Given the description of an element on the screen output the (x, y) to click on. 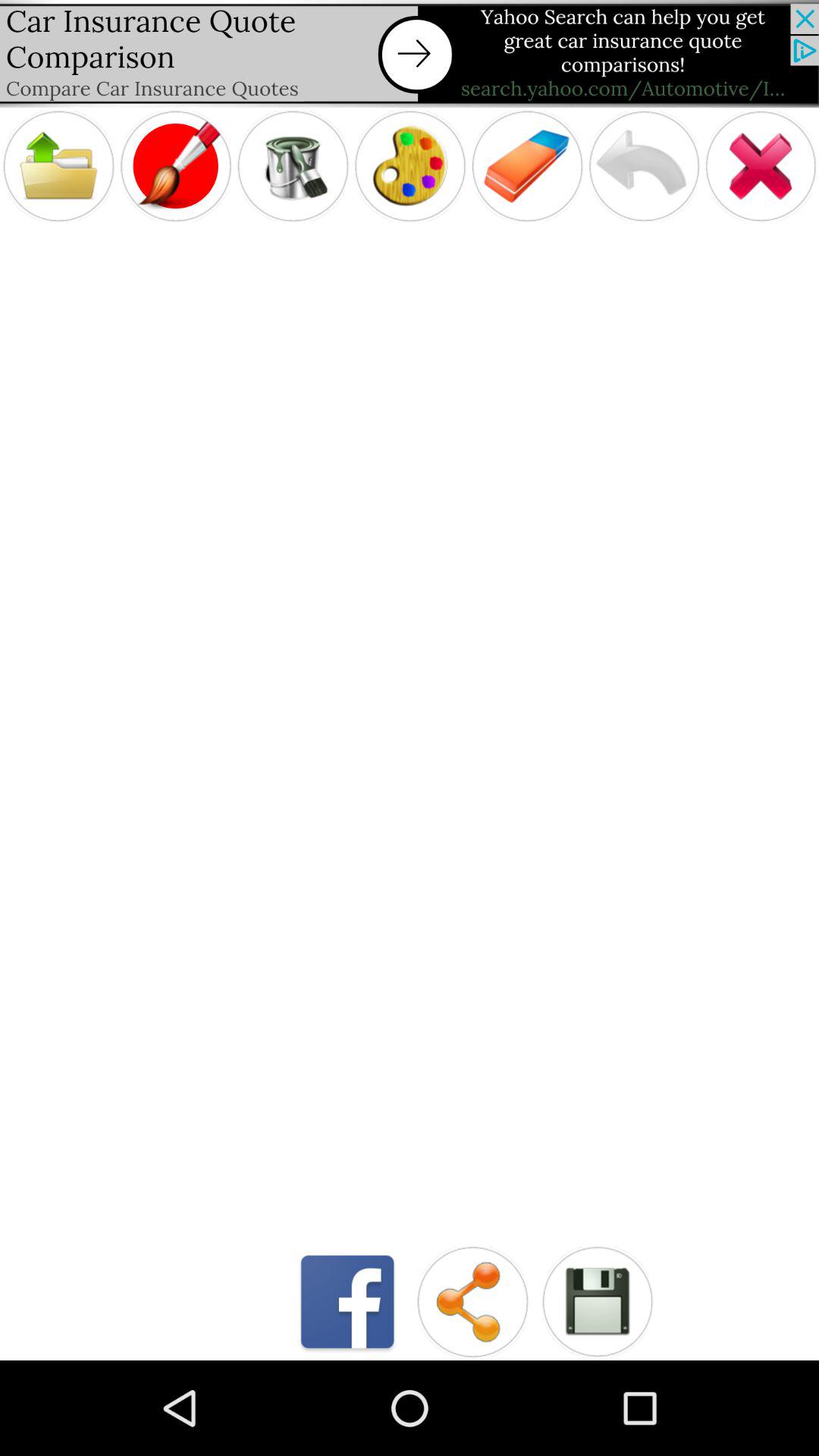
shows paint brush (175, 165)
